Given the description of an element on the screen output the (x, y) to click on. 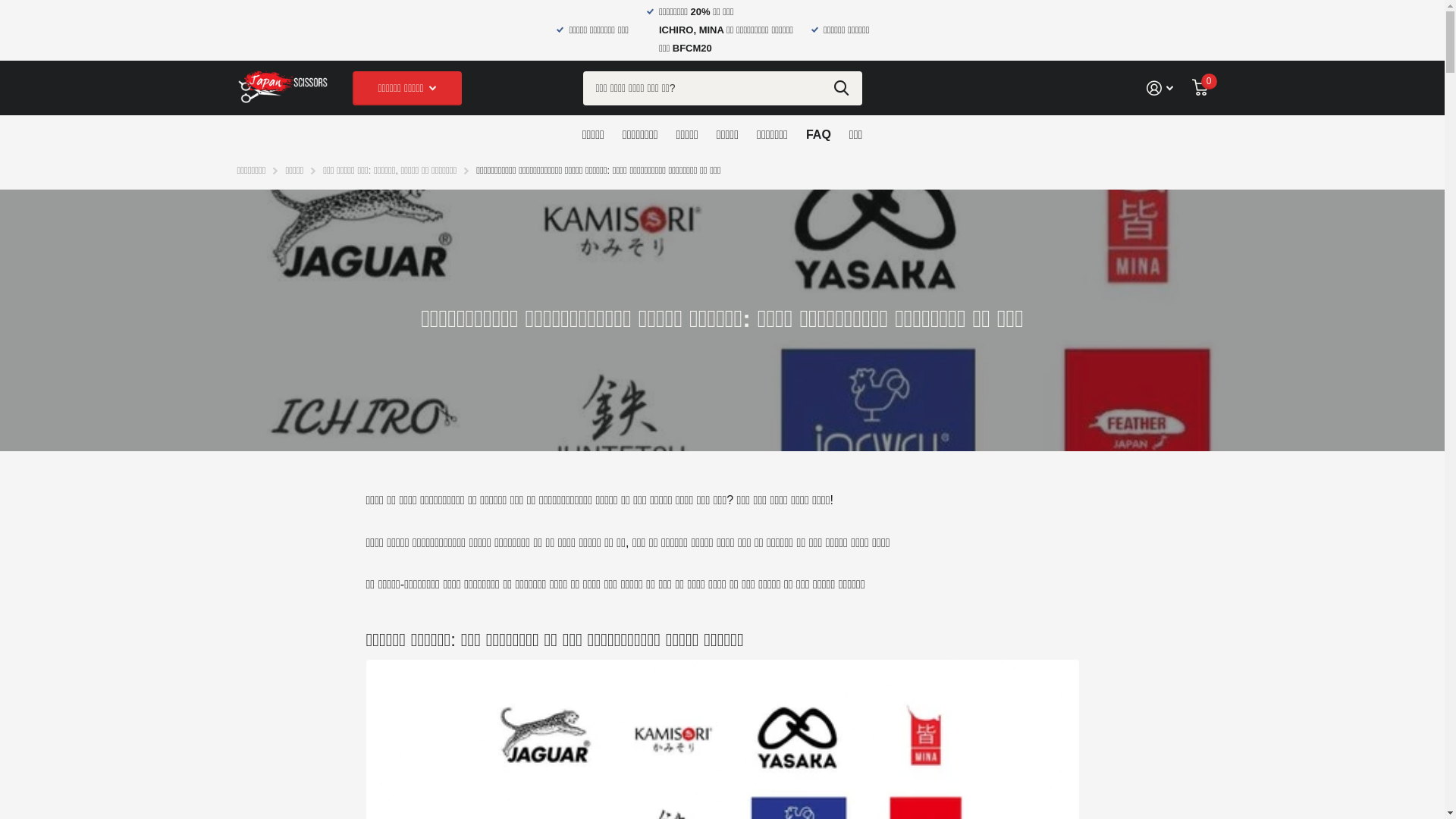
FAQ Element type: text (818, 134)
0 Element type: text (1200, 87)
